Given the description of an element on the screen output the (x, y) to click on. 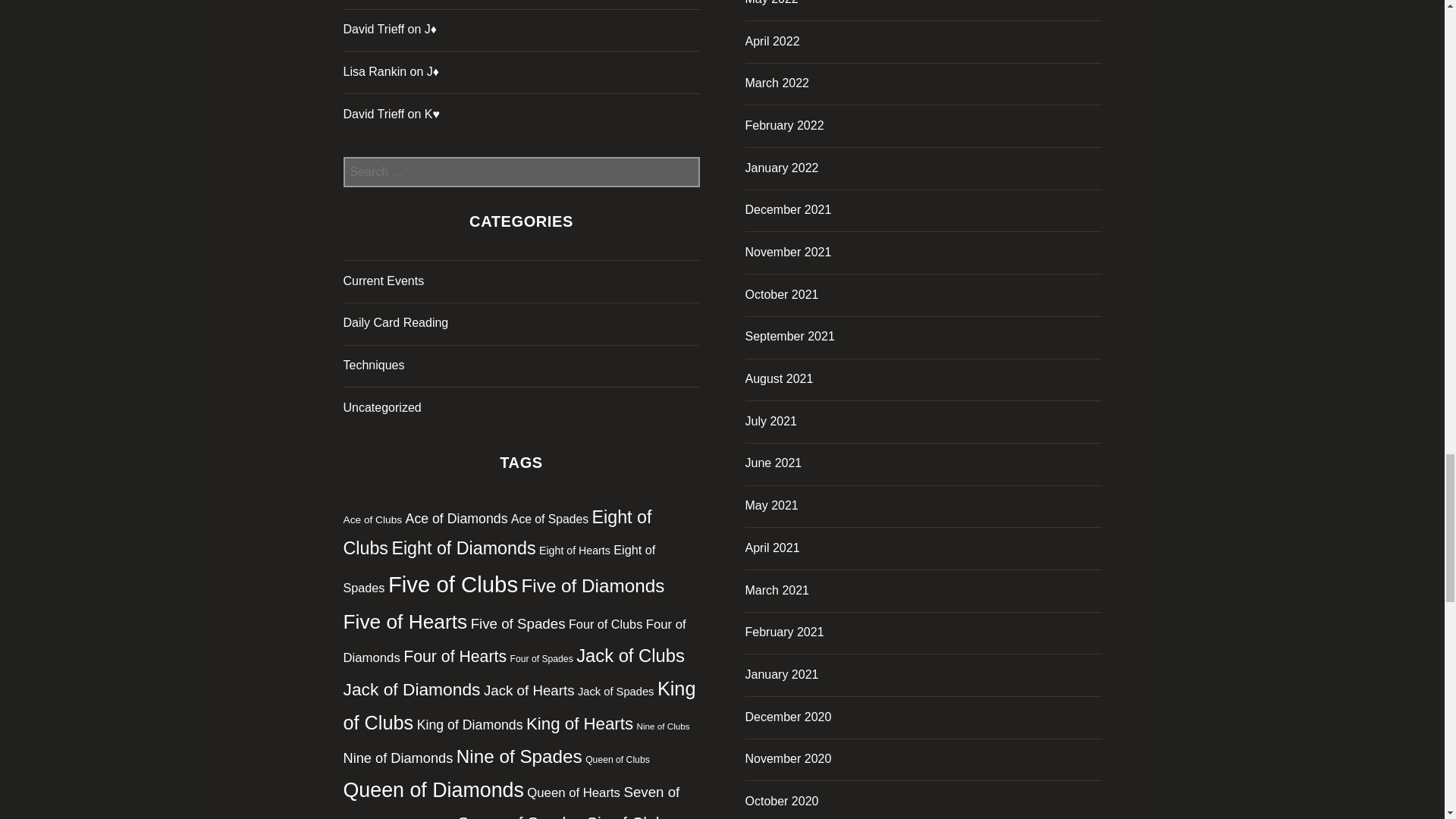
Uncategorized (381, 407)
Daily Card Reading (395, 322)
Current Events (382, 280)
Techniques (373, 364)
Ace of Clubs (371, 519)
